Given the description of an element on the screen output the (x, y) to click on. 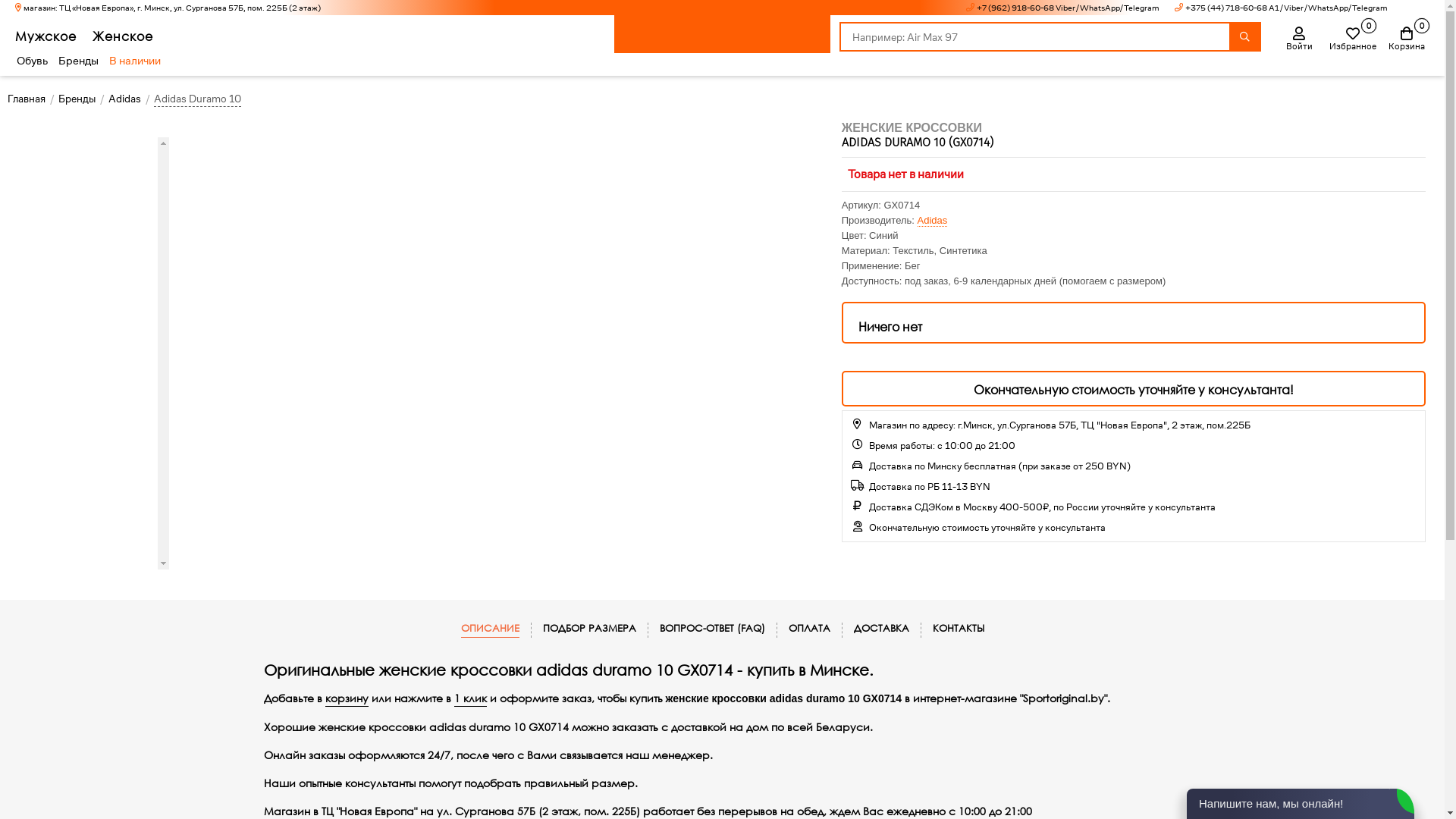
Adidas Element type: text (124, 98)
+7 (962) 918-60-68 Viber/WhatsApp/Telegram Element type: text (1061, 6)
+375 (44) 718-60-68 A1/Viber/WhatsApp/Telegram Element type: text (1279, 6)
Adidas Element type: text (932, 220)
